Given the description of an element on the screen output the (x, y) to click on. 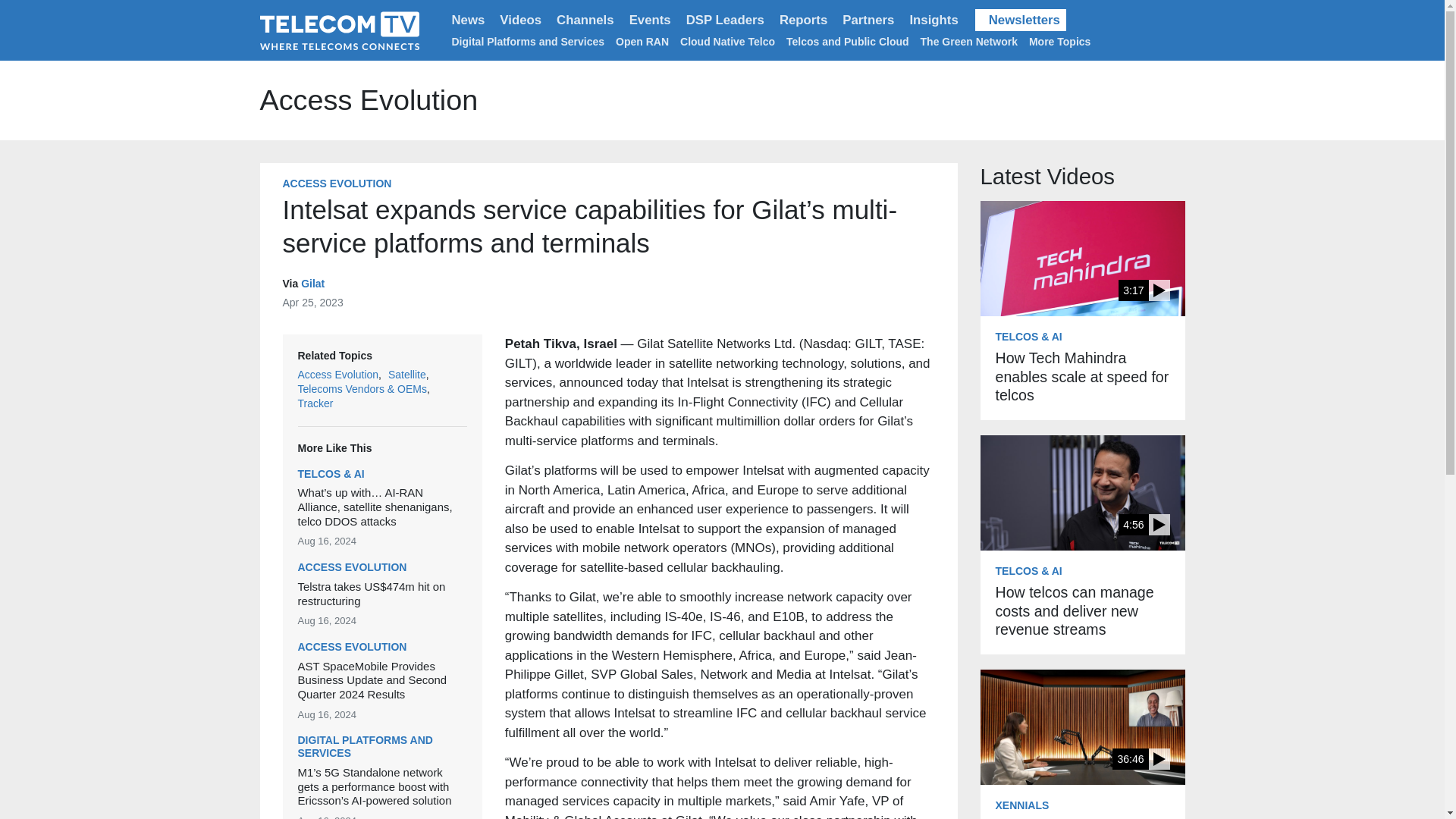
Open RAN (641, 41)
Reports (802, 20)
Insights (932, 20)
The Green Network (968, 41)
DSP Leaders (724, 20)
Telcos and Public Cloud (847, 41)
Partners (867, 20)
Digital Platforms and Services (528, 41)
Videos (520, 20)
Cloud Native Telco (726, 41)
